Given the description of an element on the screen output the (x, y) to click on. 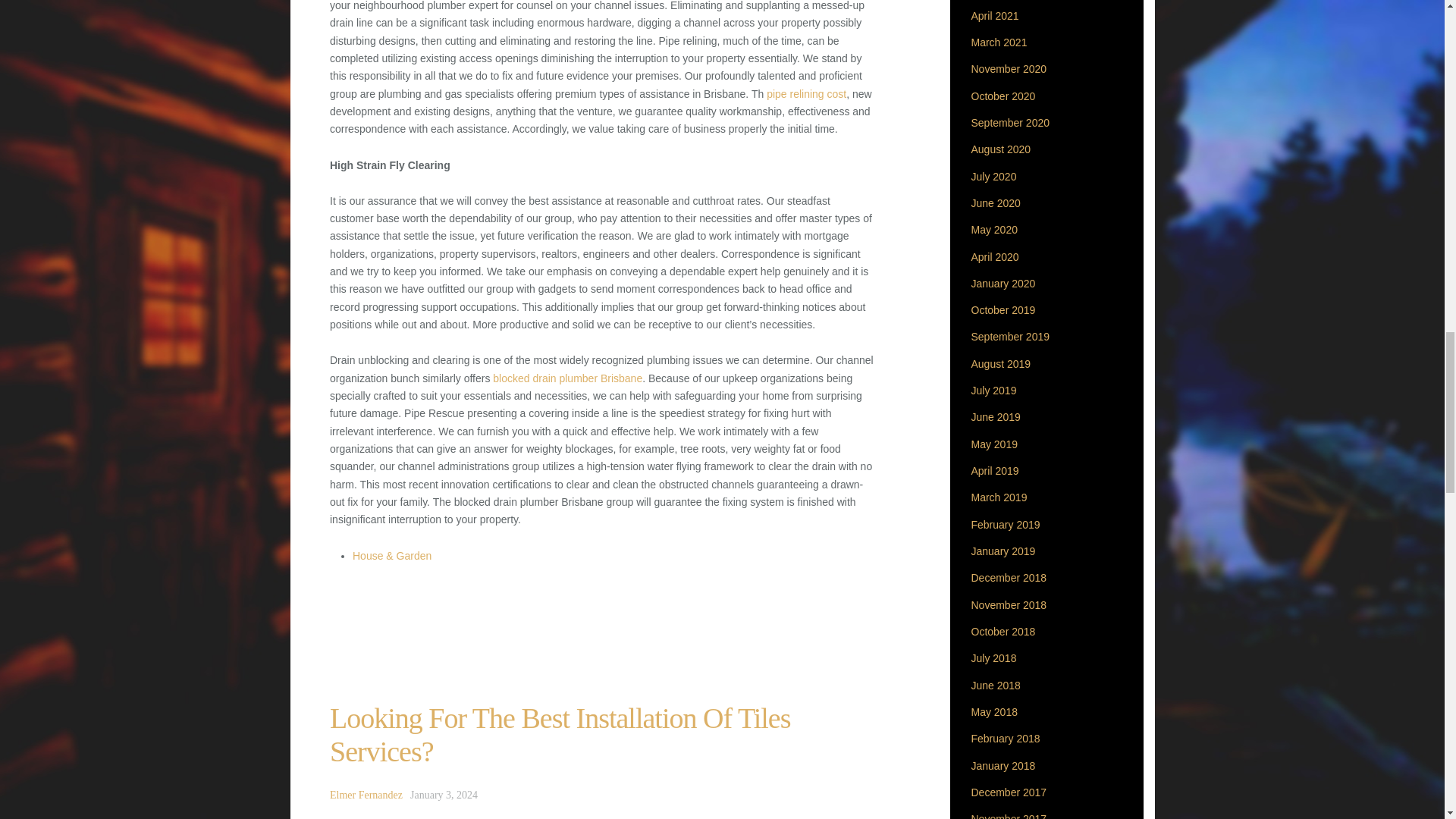
Looking For The Best Installation Of Tiles Services? (560, 734)
Elmer Fernandez (366, 794)
blocked drain plumber Brisbane (567, 378)
pipe relining cost (806, 93)
